Given the description of an element on the screen output the (x, y) to click on. 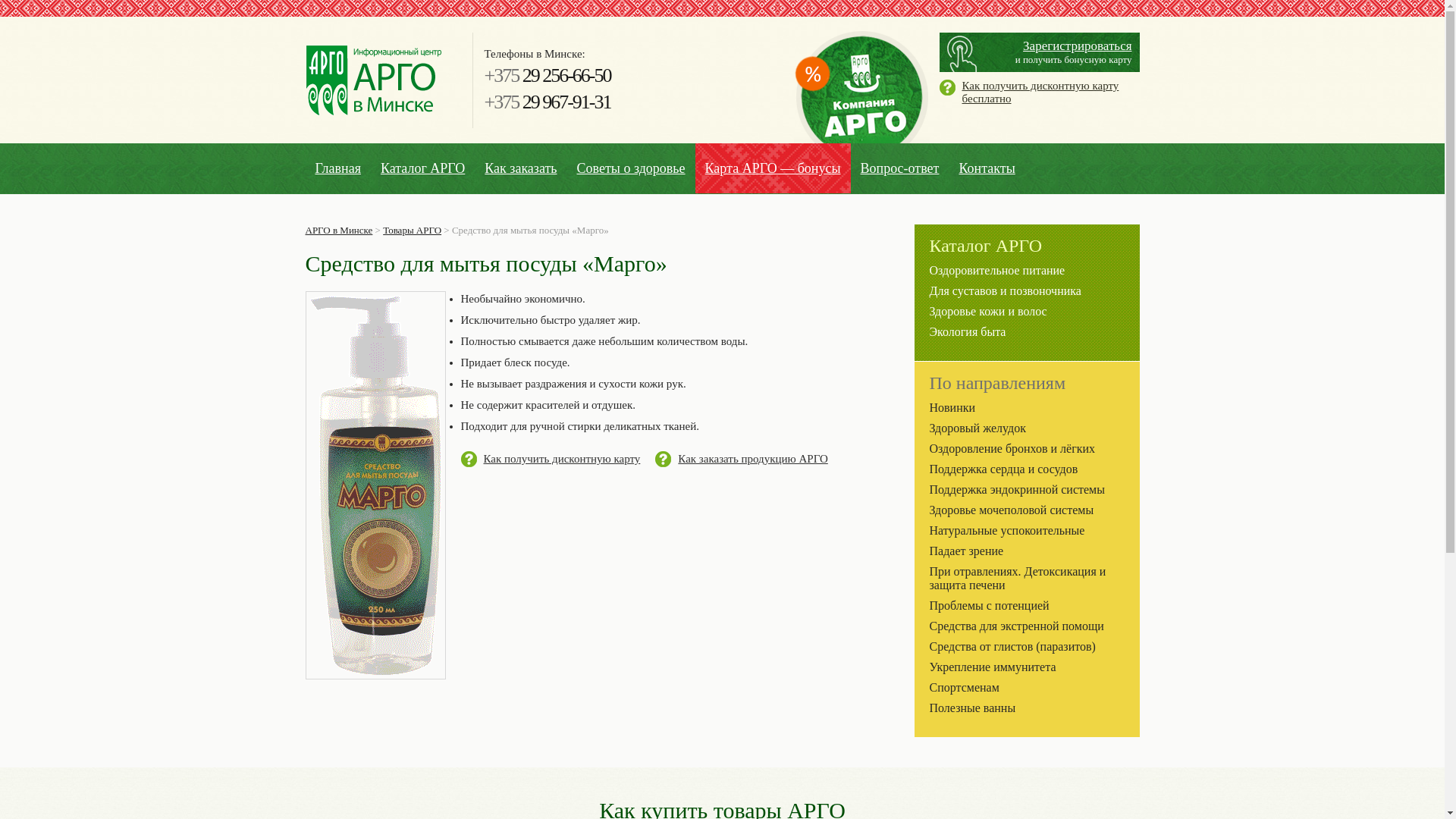
+375 29 256-66-50 Element type: text (546, 75)
+375 29 967-91-31 Element type: text (546, 101)
